Given the description of an element on the screen output the (x, y) to click on. 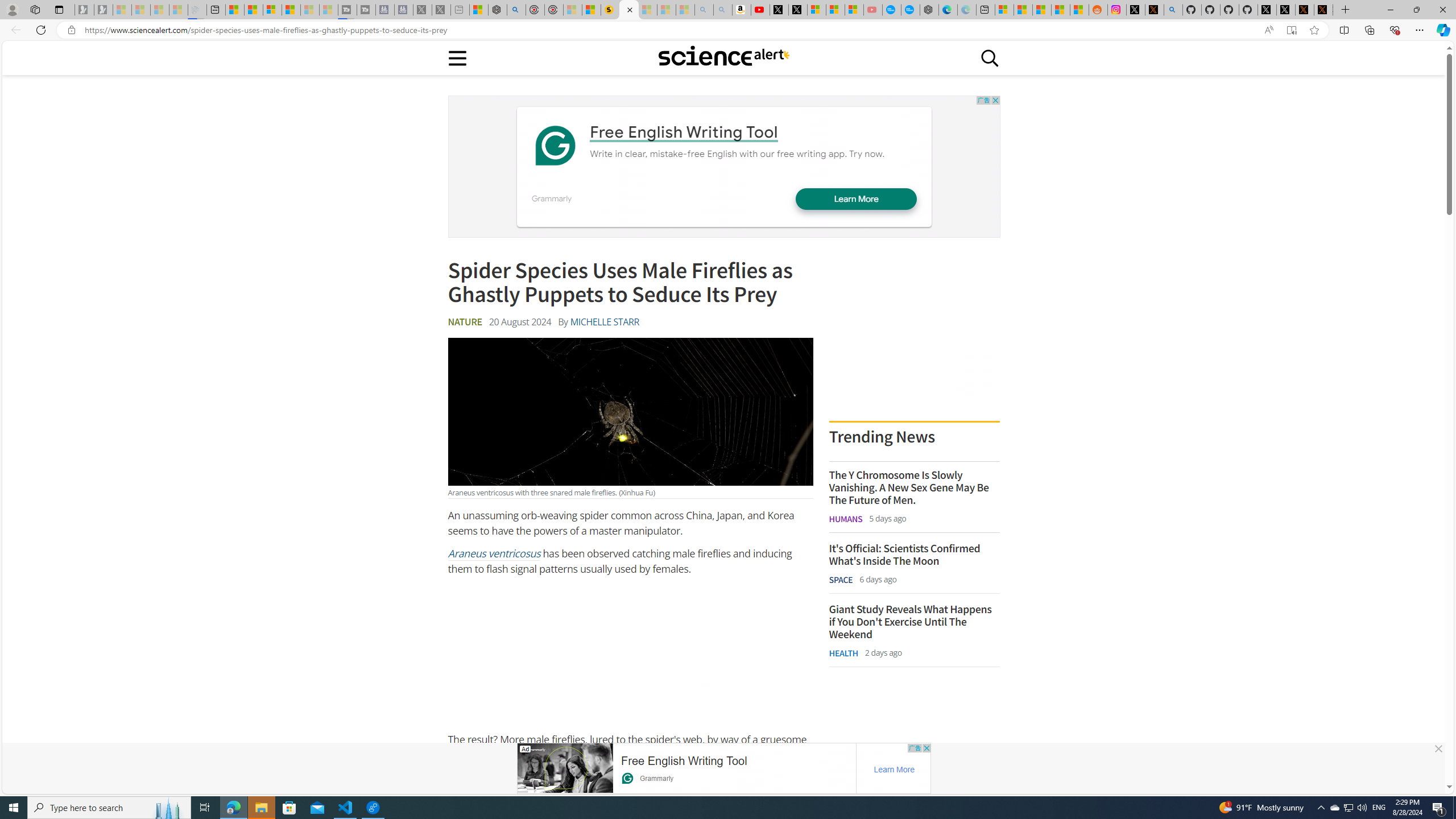
amazon - Search - Sleeping (703, 9)
Profile / X (1267, 9)
MICHELLE STARR (604, 321)
Log in to X / X (1135, 9)
Class: sciencealert-menu-desktop-svg  (456, 57)
Class: sciencealert-search-desktop-svg  (989, 57)
